Given the description of an element on the screen output the (x, y) to click on. 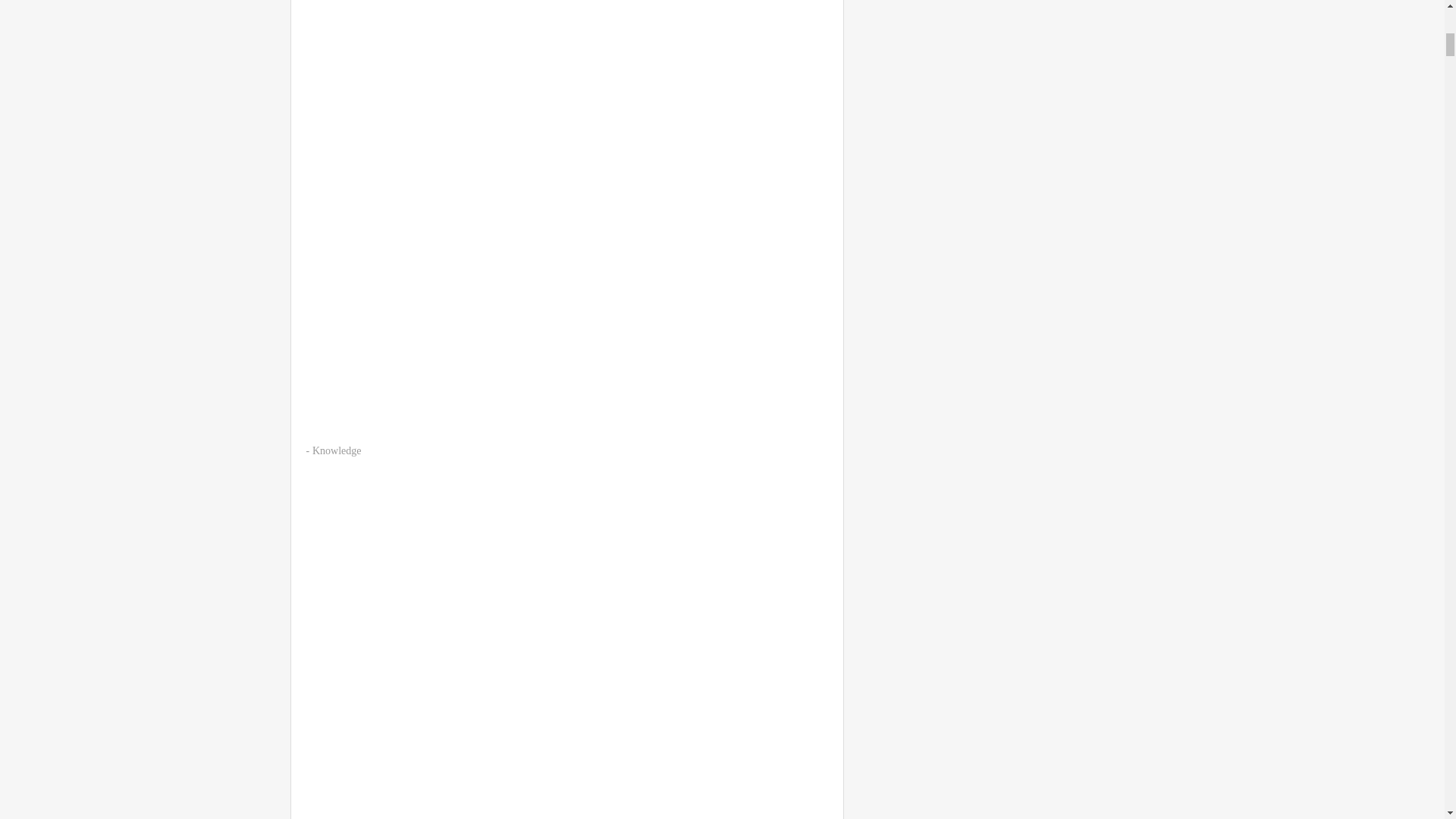
Knowledge (337, 450)
